Given the description of an element on the screen output the (x, y) to click on. 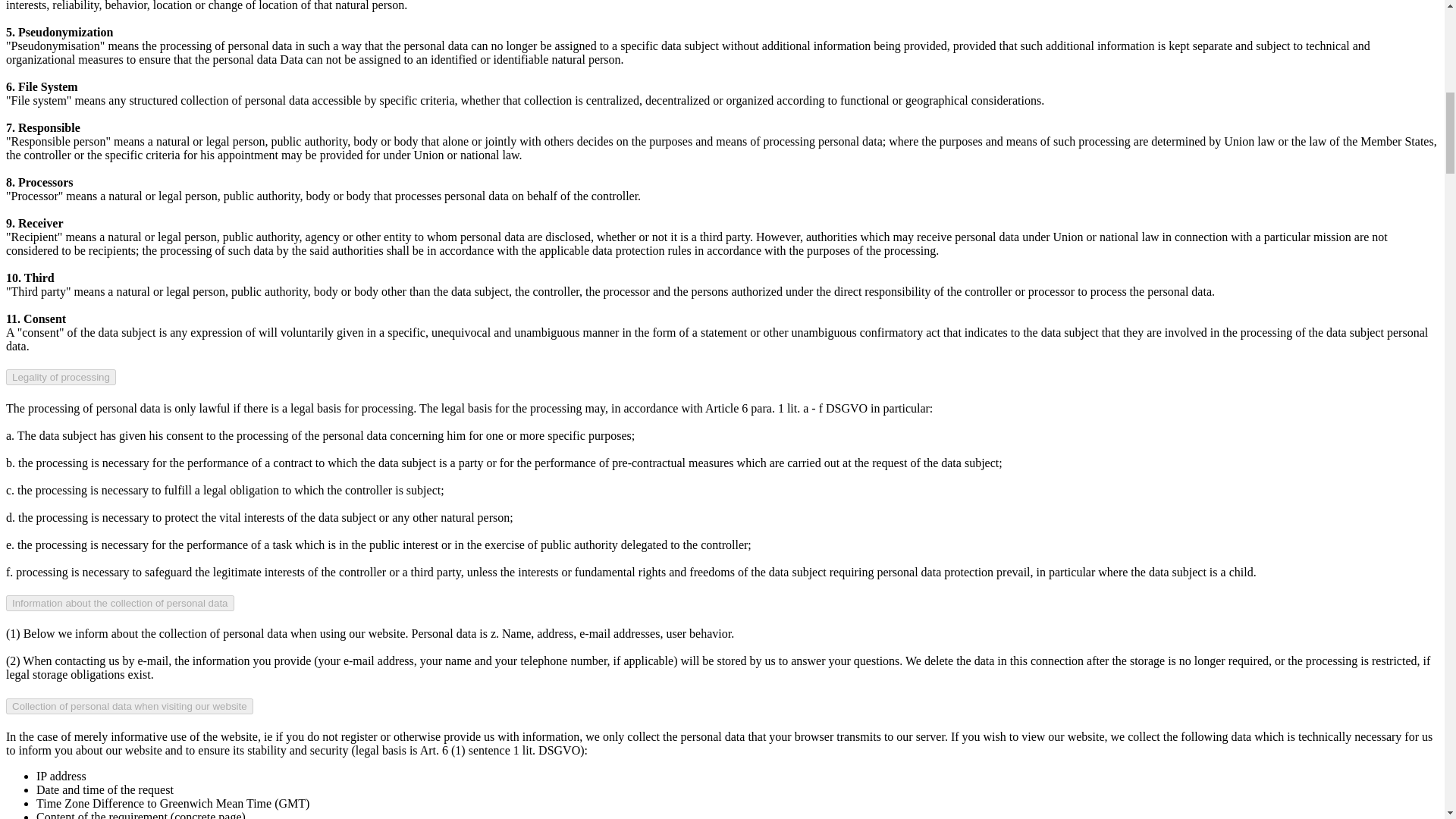
Information about the collection of personal data (119, 602)
Collection of personal data when visiting our website (129, 706)
Legality of processing (60, 376)
